Given the description of an element on the screen output the (x, y) to click on. 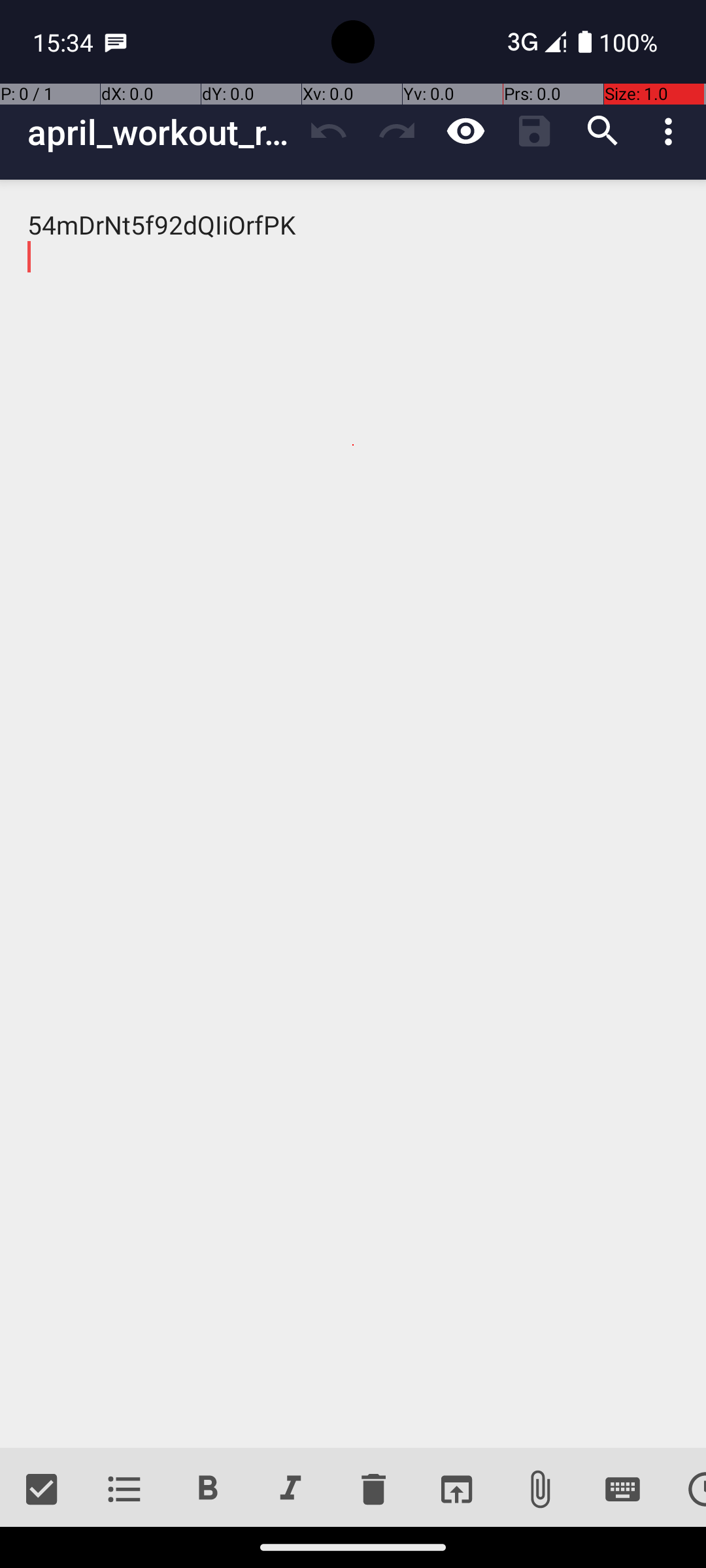
april_workout_routine_2023_02_19 Element type: android.widget.TextView (160, 131)
54mDrNt5f92dQIiOrfPK
 Element type: android.widget.EditText (353, 813)
